Given the description of an element on the screen output the (x, y) to click on. 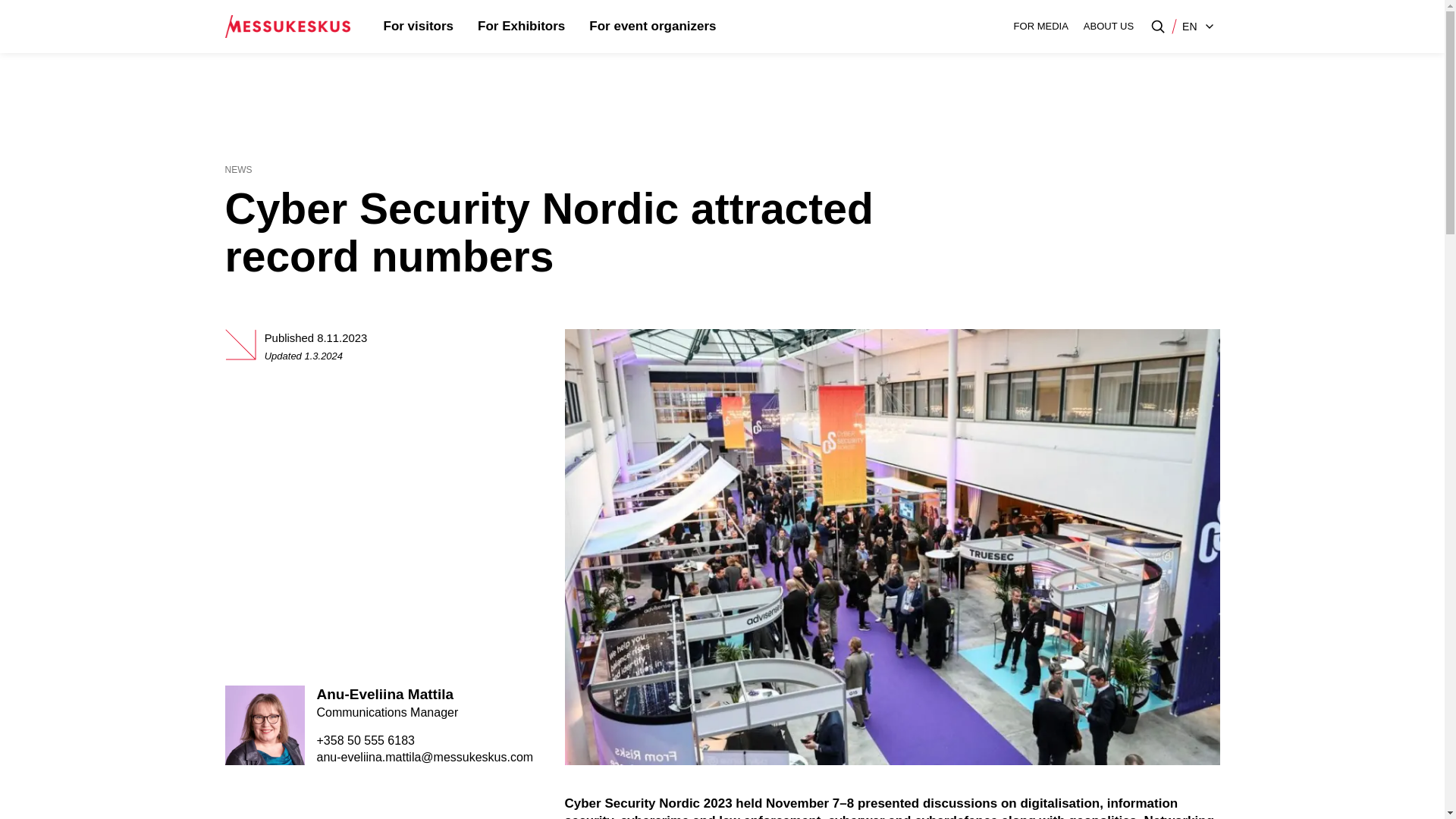
For event organizers (652, 26)
ABOUT US (1108, 26)
For Exhibitors (520, 26)
English (1198, 26)
1.3.2024 15:17:04 (323, 355)
8.11.2023 15:34:31 (341, 337)
FOR MEDIA (1040, 26)
Sub menu (716, 25)
Messukeskus (286, 26)
For visitors (418, 26)
Sub menu (453, 25)
Sub menu (565, 25)
EN (1198, 26)
